Given the description of an element on the screen output the (x, y) to click on. 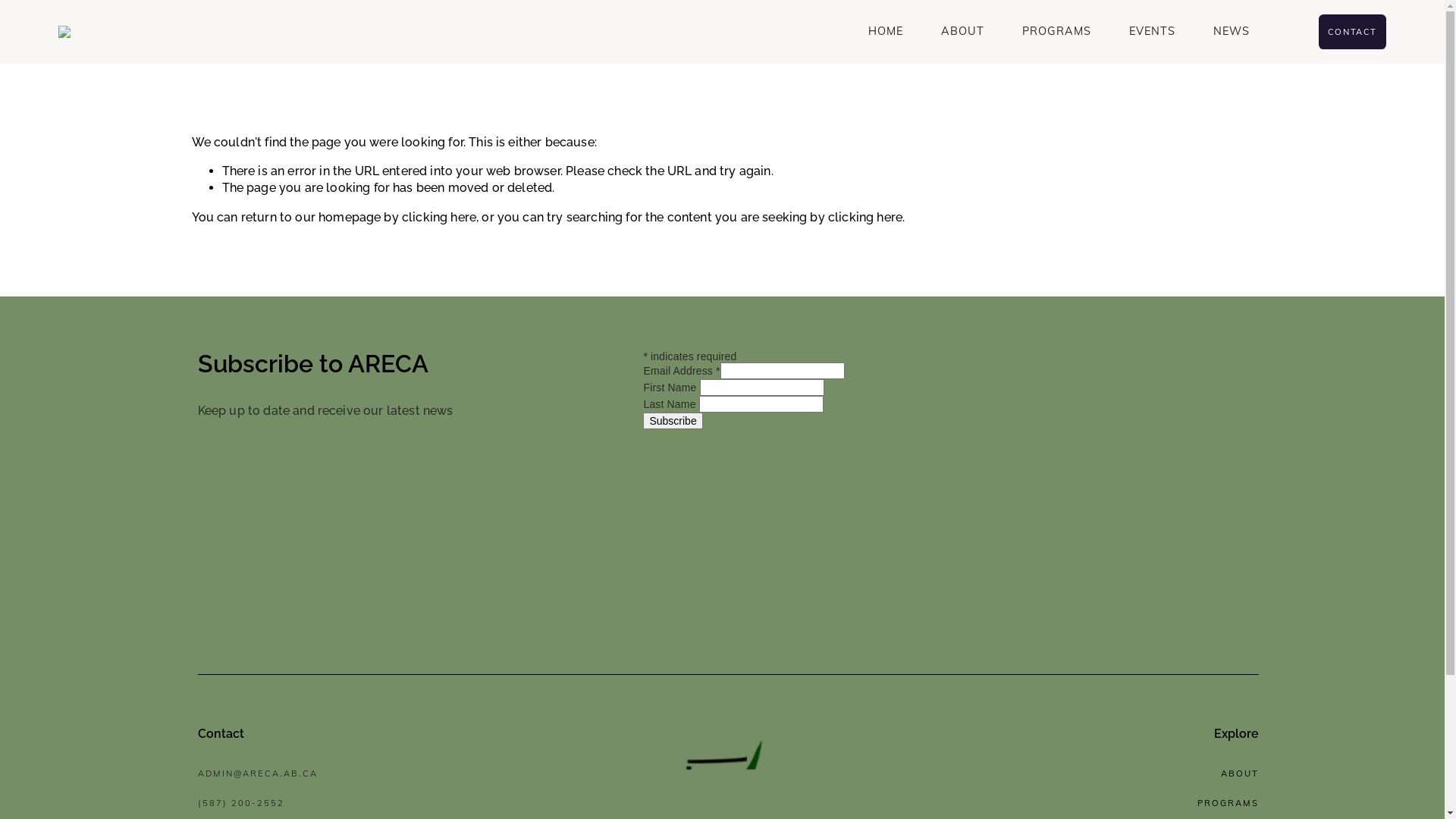
PROGRAMS Element type: text (1227, 802)
clicking here Element type: text (438, 217)
HOME Element type: text (885, 31)
ABOUT Element type: text (1239, 773)
ABOUT Element type: text (962, 31)
CONTACT Element type: text (1352, 31)
clicking here Element type: text (865, 217)
EVENTS Element type: text (1152, 31)
PROGRAMS Element type: text (1056, 31)
Subscribe Element type: text (672, 420)
NEWS Element type: text (1231, 31)
